Given the description of an element on the screen output the (x, y) to click on. 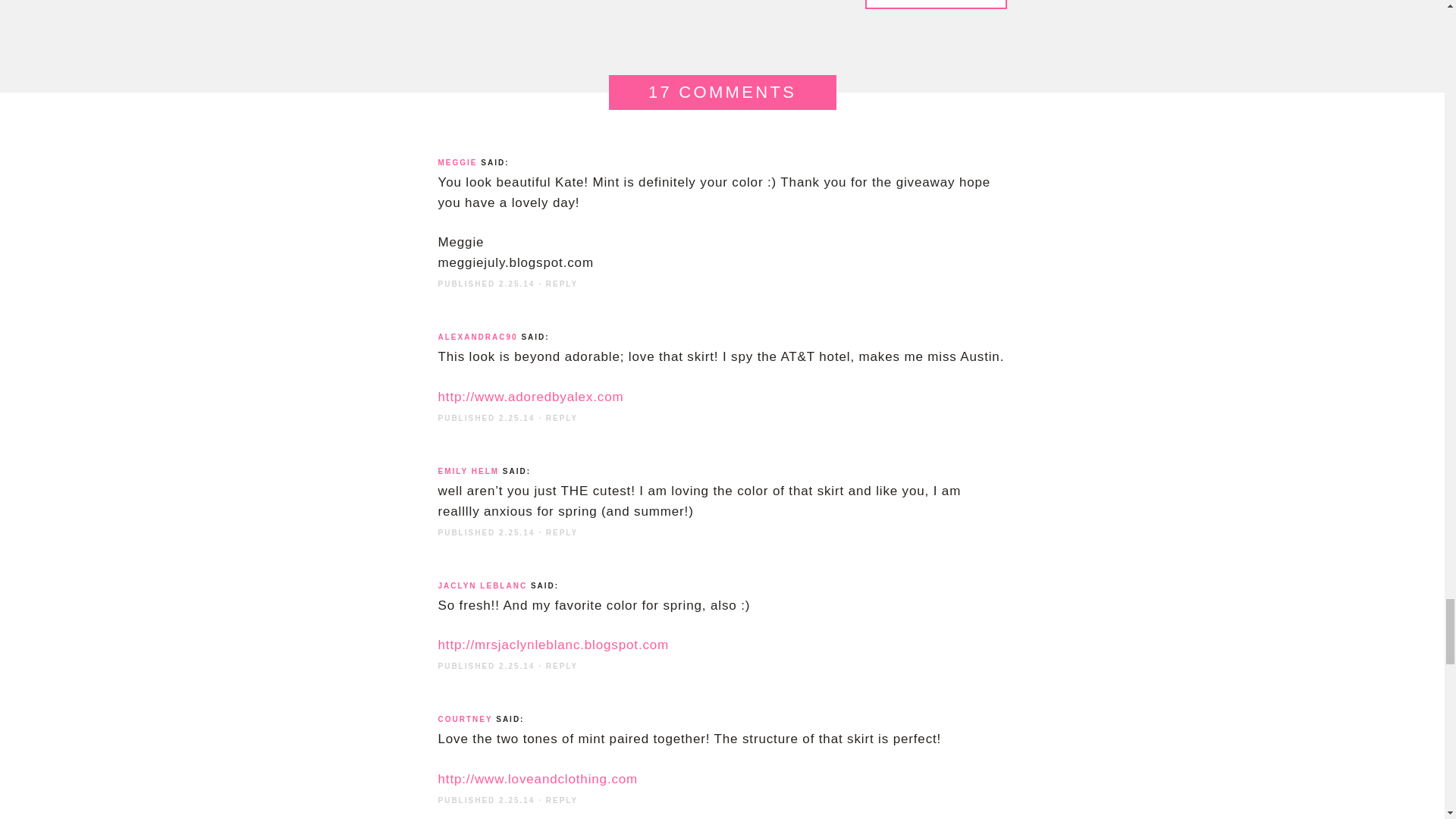
Publish! (935, 4)
